Given the description of an element on the screen output the (x, y) to click on. 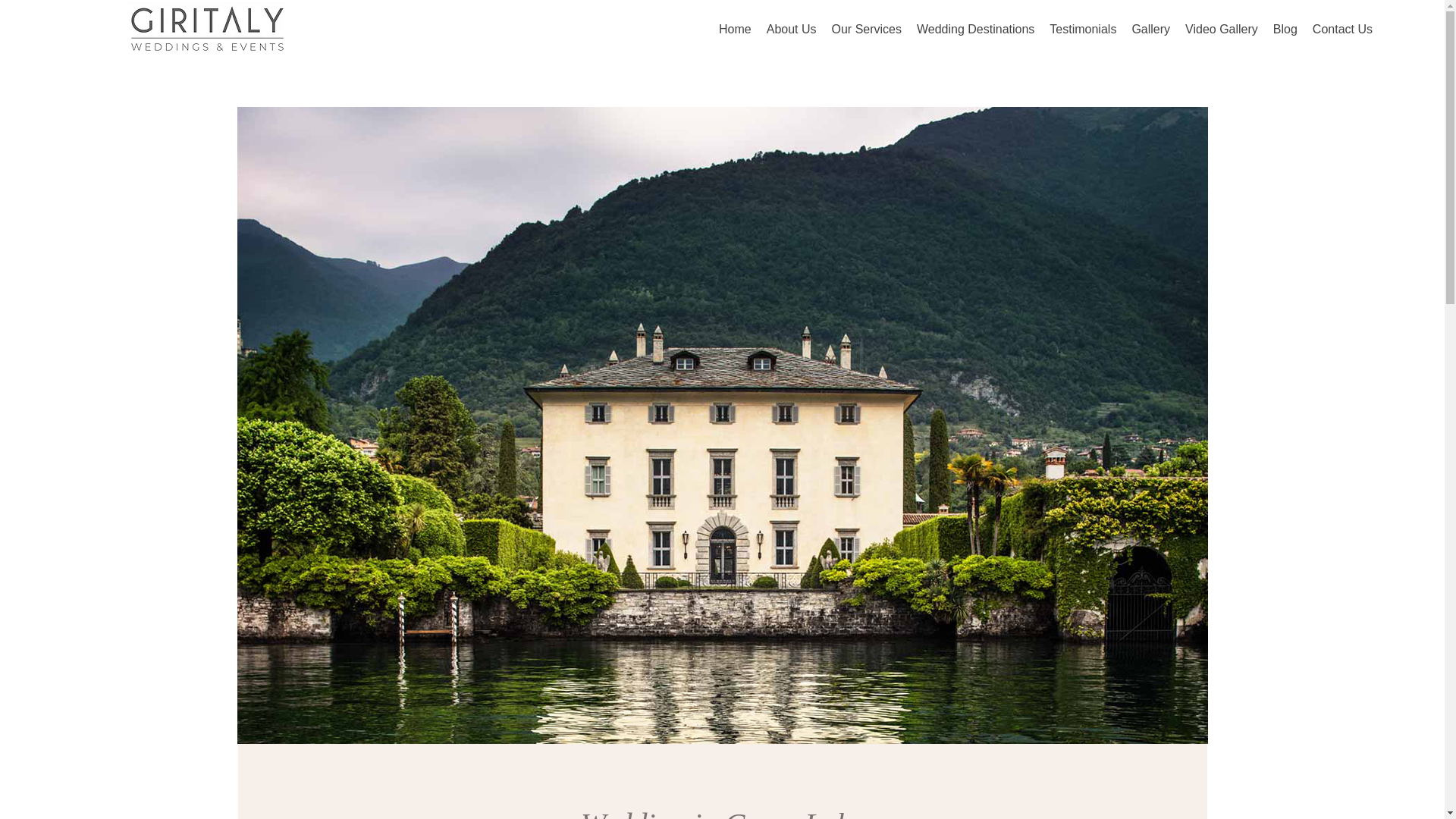
Home (735, 32)
Video Gallery (1221, 32)
About Us (791, 32)
Contact Us (1343, 32)
Wedding Destinations (975, 32)
Gallery (1150, 32)
Our Services (866, 32)
Testimonials (1082, 32)
